Given the description of an element on the screen output the (x, y) to click on. 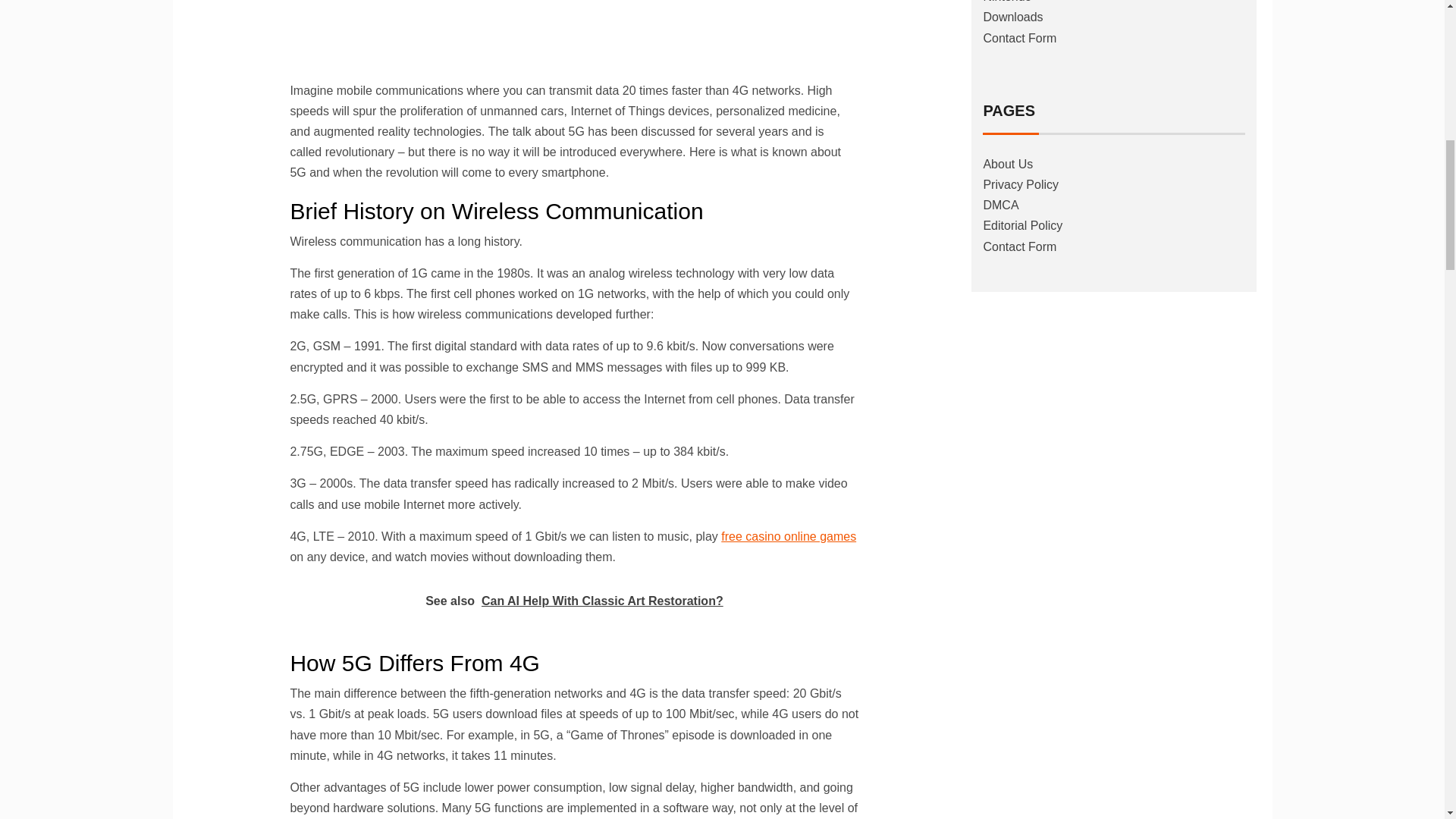
Advertisement (574, 36)
See also  Can AI Help With Classic Art Restoration? (574, 600)
free casino online games (788, 535)
